Given the description of an element on the screen output the (x, y) to click on. 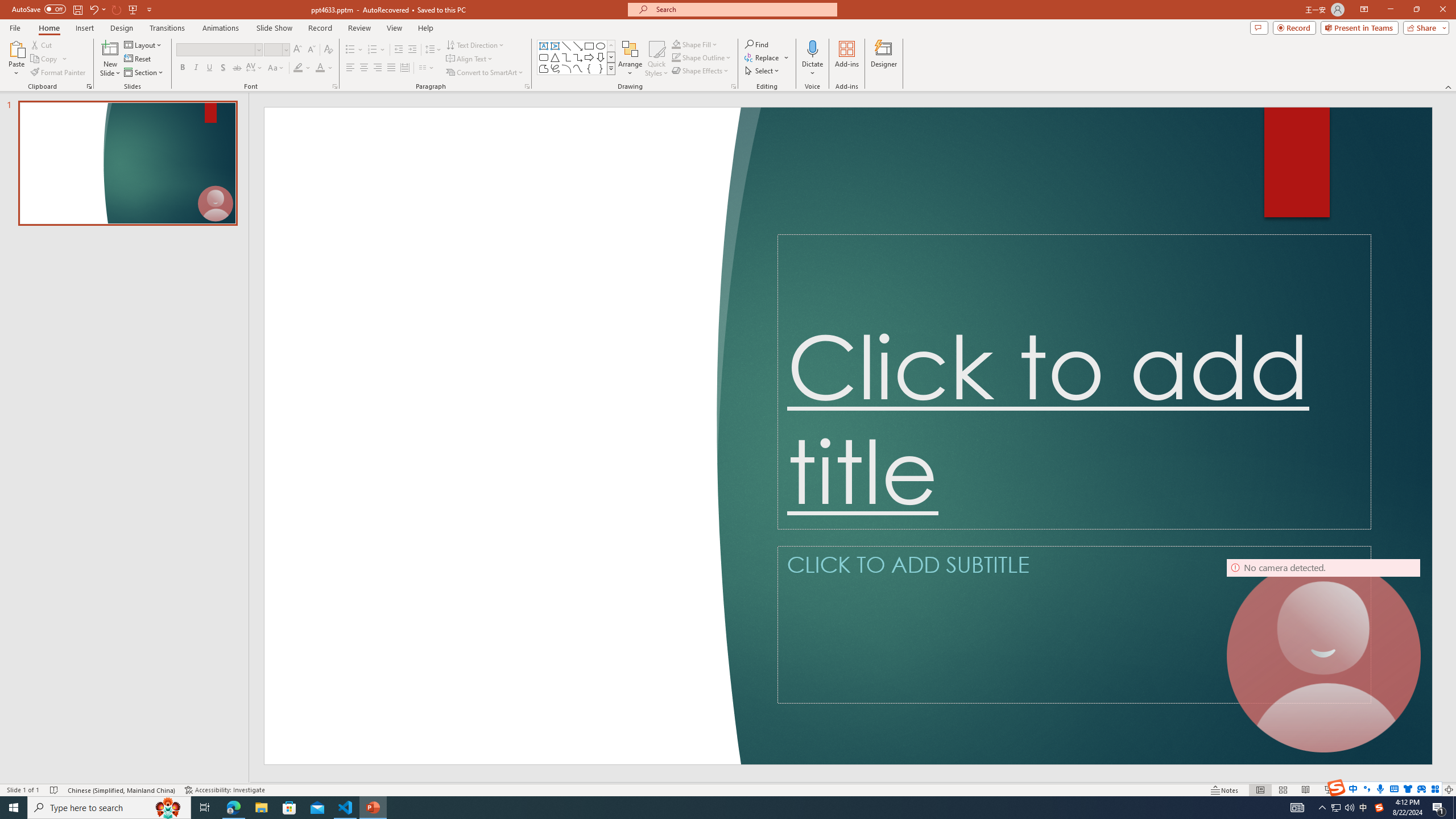
Zoom 161% (1430, 790)
